Given the description of an element on the screen output the (x, y) to click on. 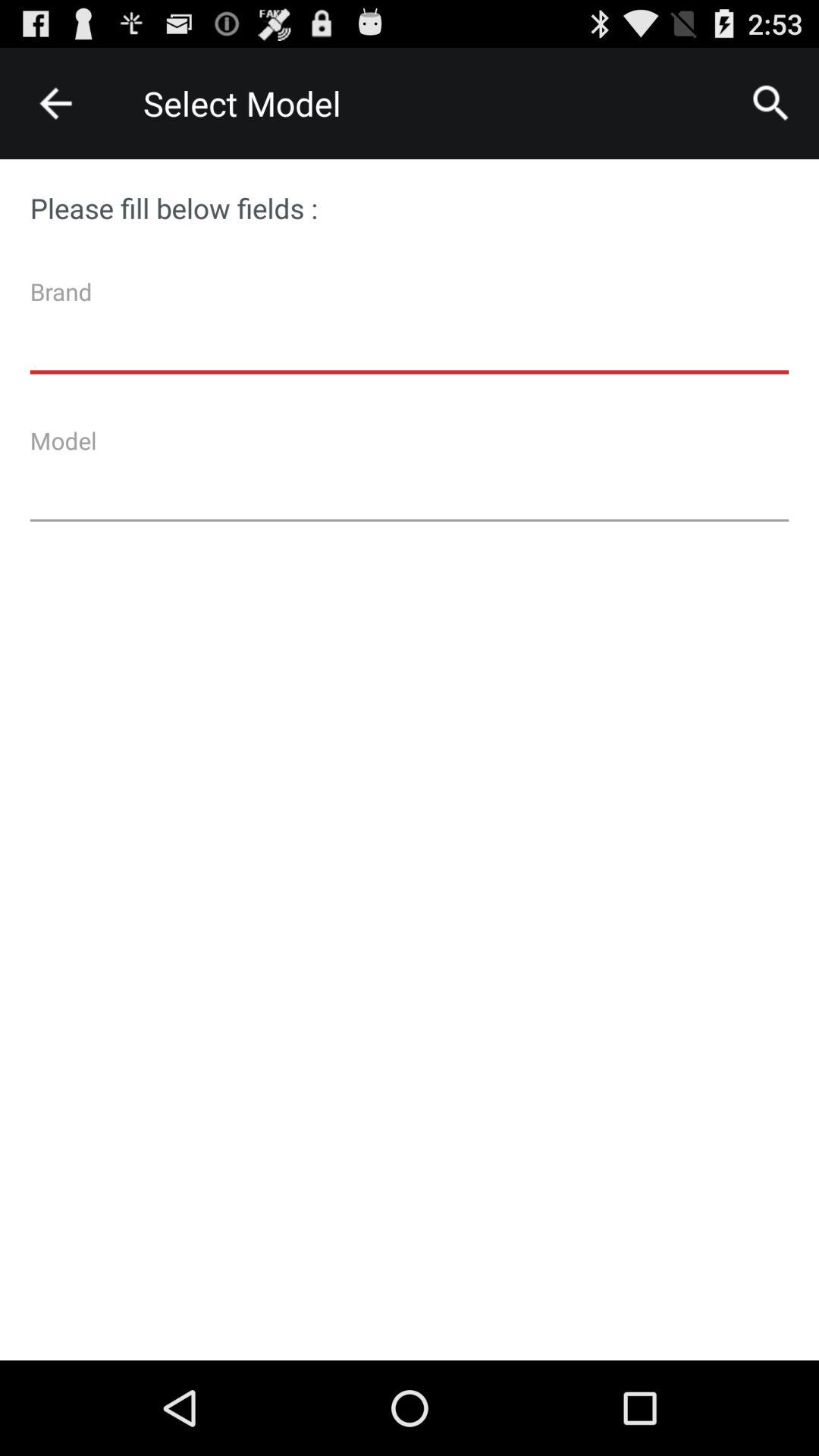
model textbox (409, 480)
